Given the description of an element on the screen output the (x, y) to click on. 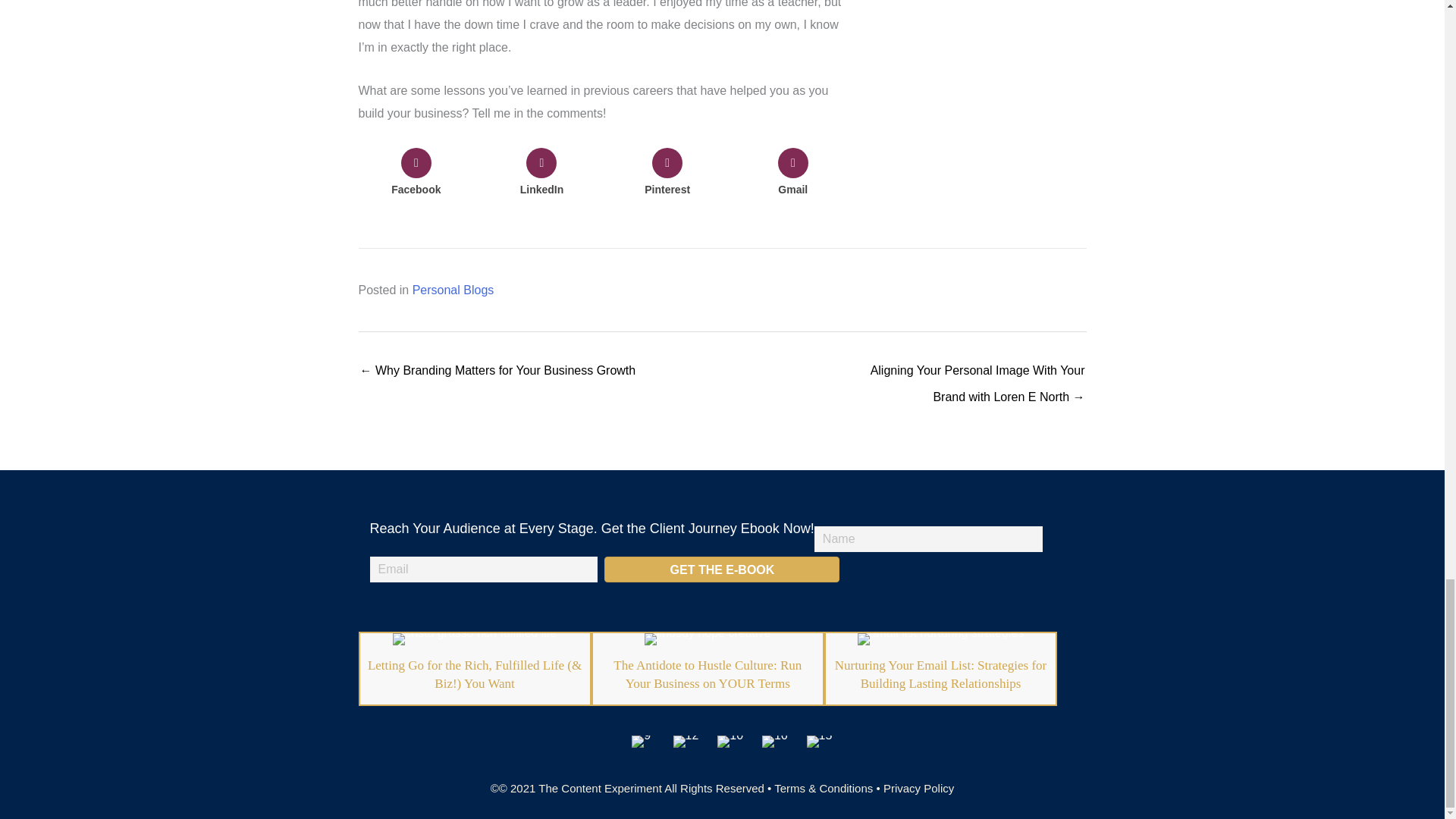
LinkedIn (541, 175)
Facebook (416, 175)
Gmail (792, 175)
Pinterest (667, 175)
